Given the description of an element on the screen output the (x, y) to click on. 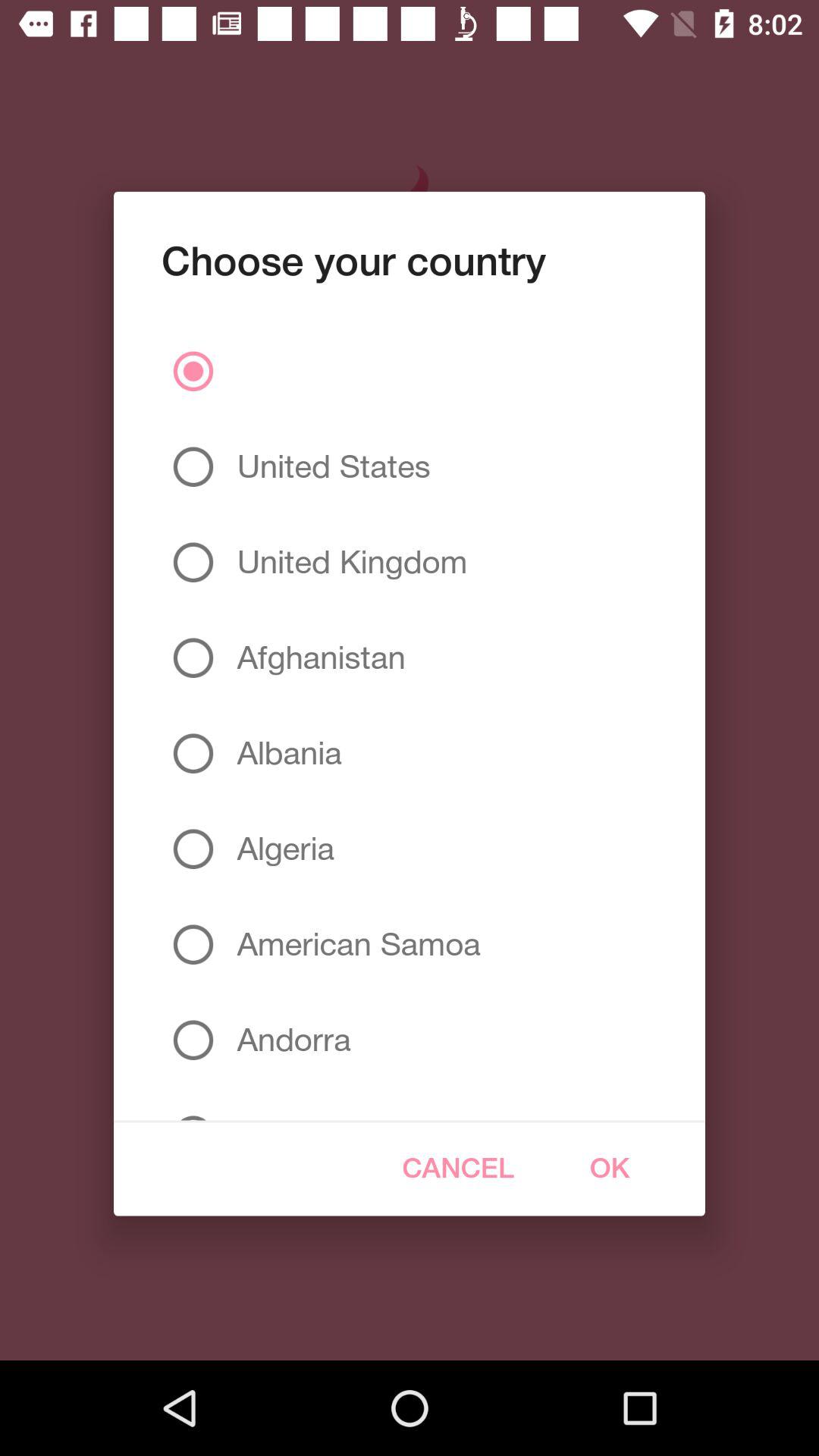
swipe until the albania item (283, 753)
